Given the description of an element on the screen output the (x, y) to click on. 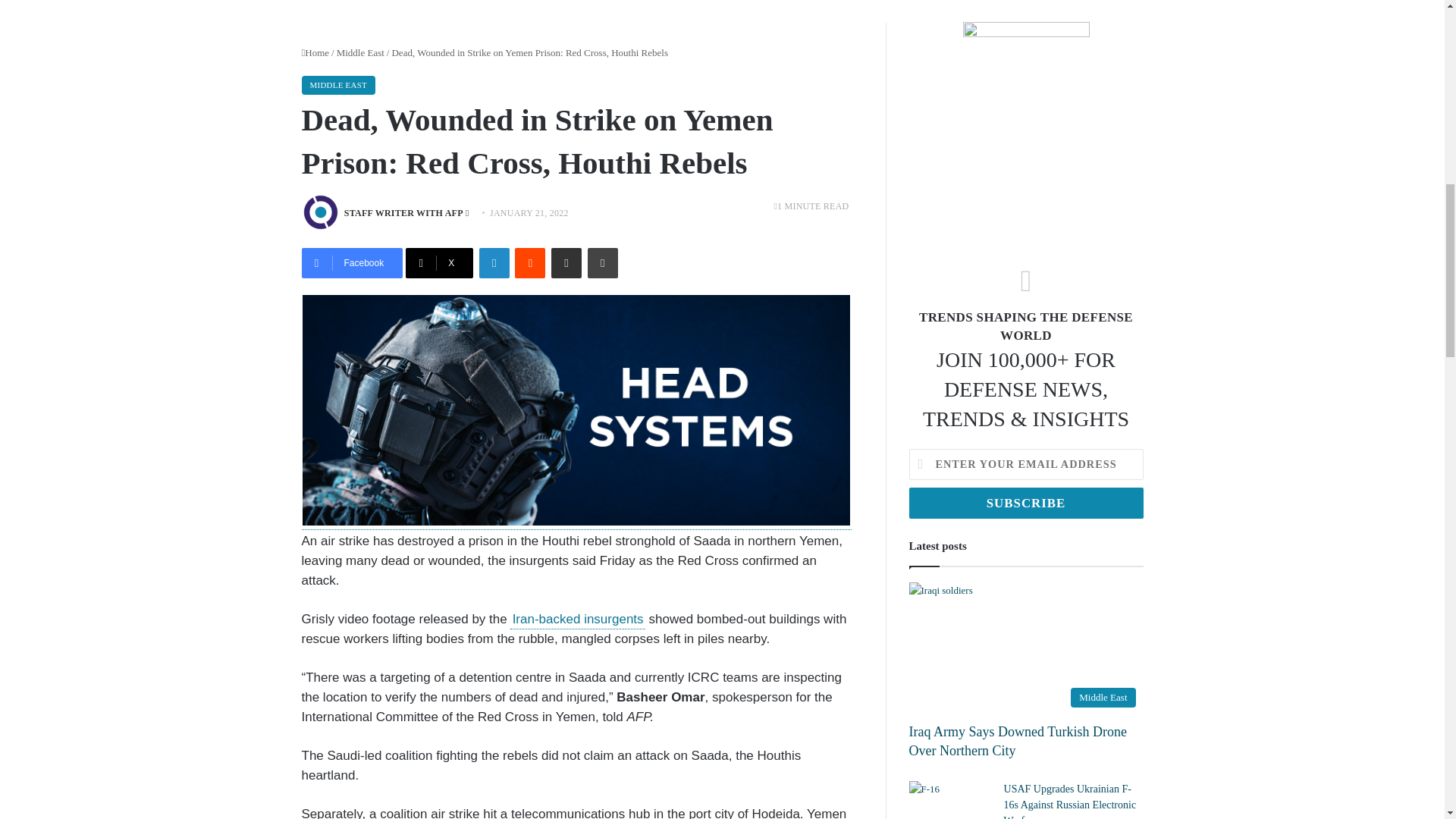
X (439, 263)
Home (315, 52)
Reddit (529, 263)
Facebook (352, 263)
LinkedIn (494, 263)
Subscribe (1025, 502)
Middle East (360, 52)
Facebook (352, 263)
STAFF WRITER WITH AFP (403, 213)
Print (602, 263)
